Given the description of an element on the screen output the (x, y) to click on. 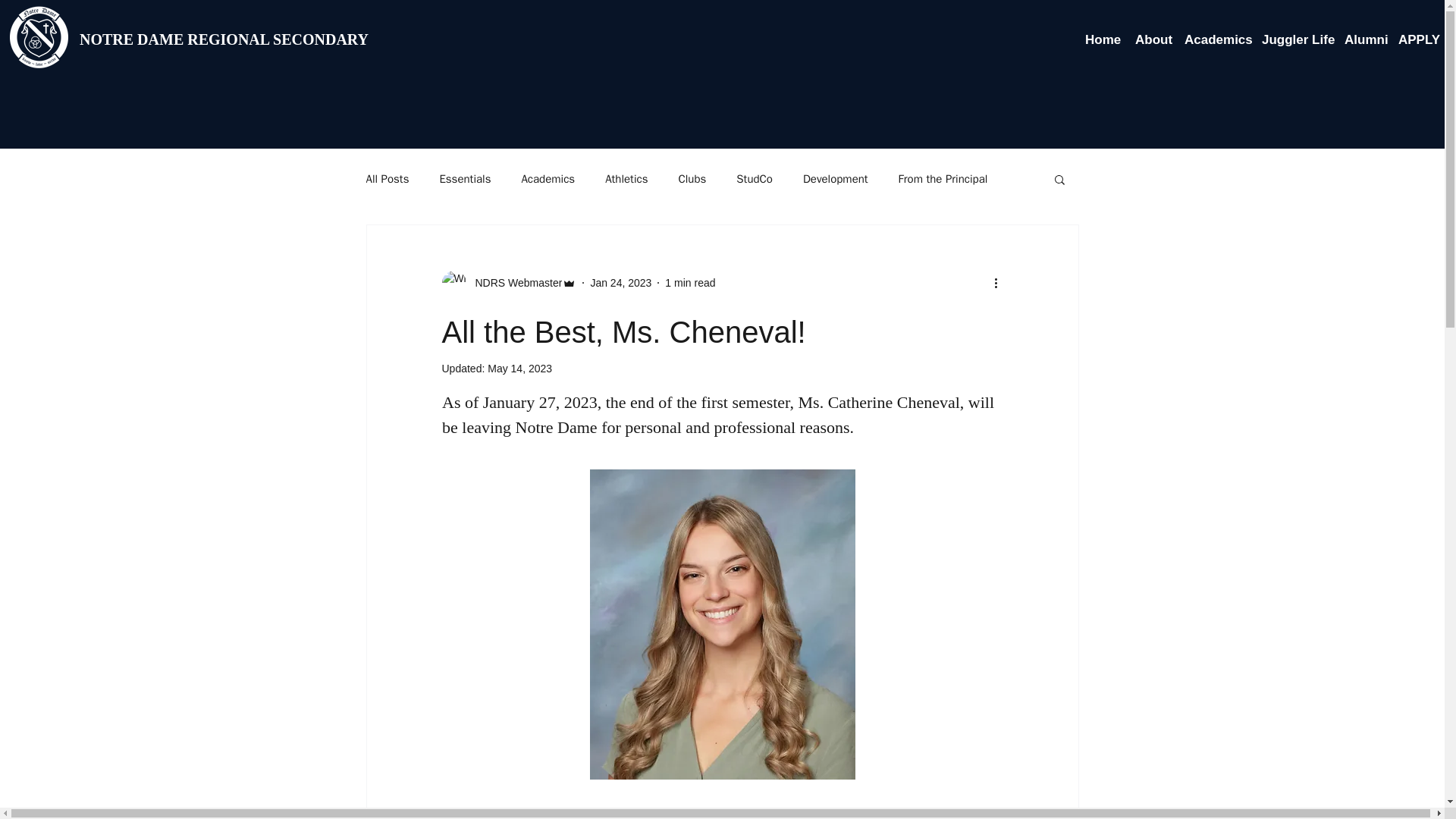
Essentials (464, 178)
Jan 24, 2023 (619, 282)
1 min read (689, 282)
NOTRE DAME REGIONAL SECONDARY (224, 39)
StudCo (754, 178)
NDRS Webmaster (513, 282)
May 14, 2023 (519, 368)
Athletics (626, 178)
Home (1101, 40)
Academics (548, 178)
